Given the description of an element on the screen output the (x, y) to click on. 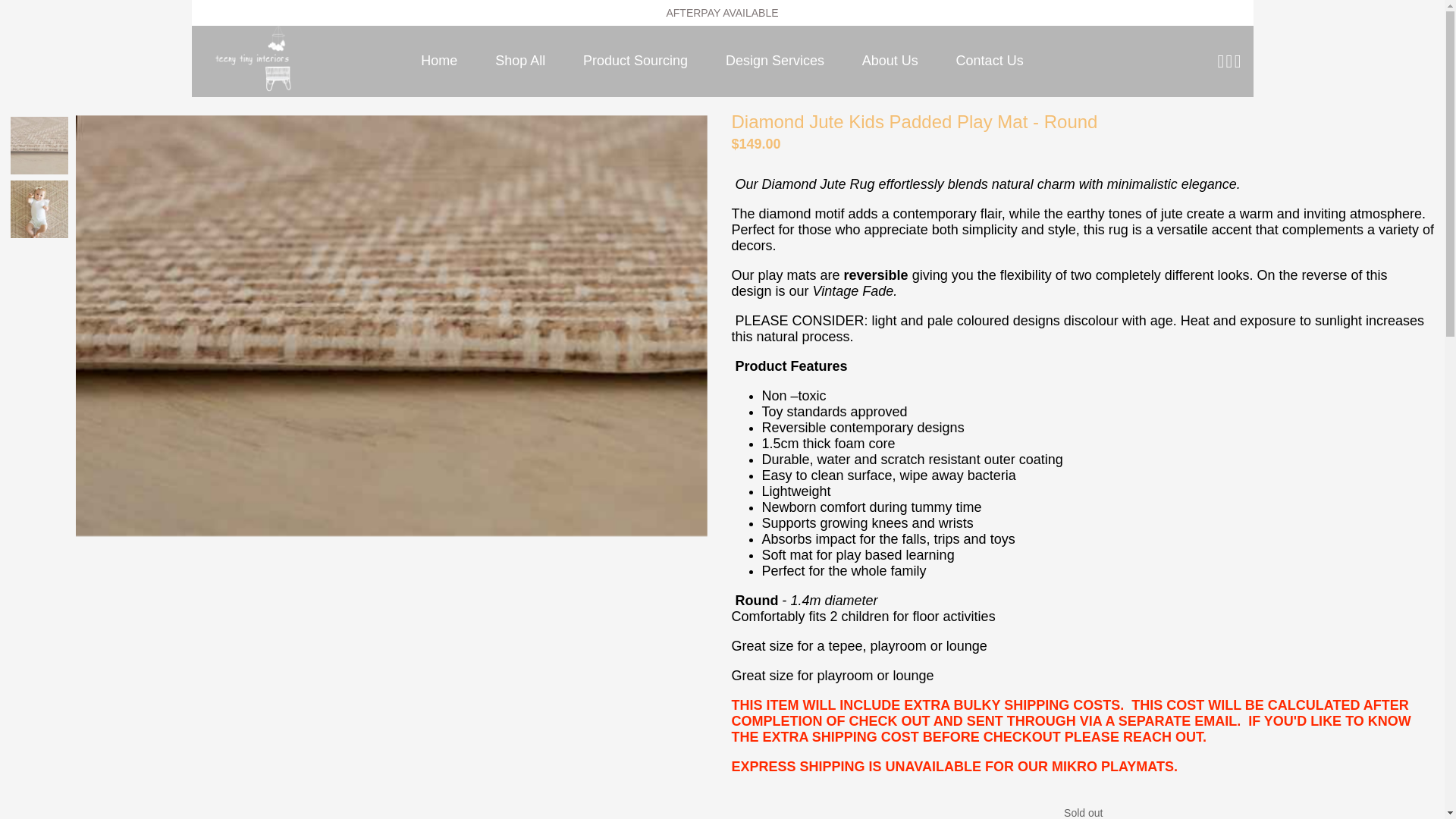
Design Services (775, 60)
Product Sourcing (635, 60)
Contact Us (989, 60)
About Us (890, 60)
Shop All (520, 60)
Home (438, 60)
